Given the description of an element on the screen output the (x, y) to click on. 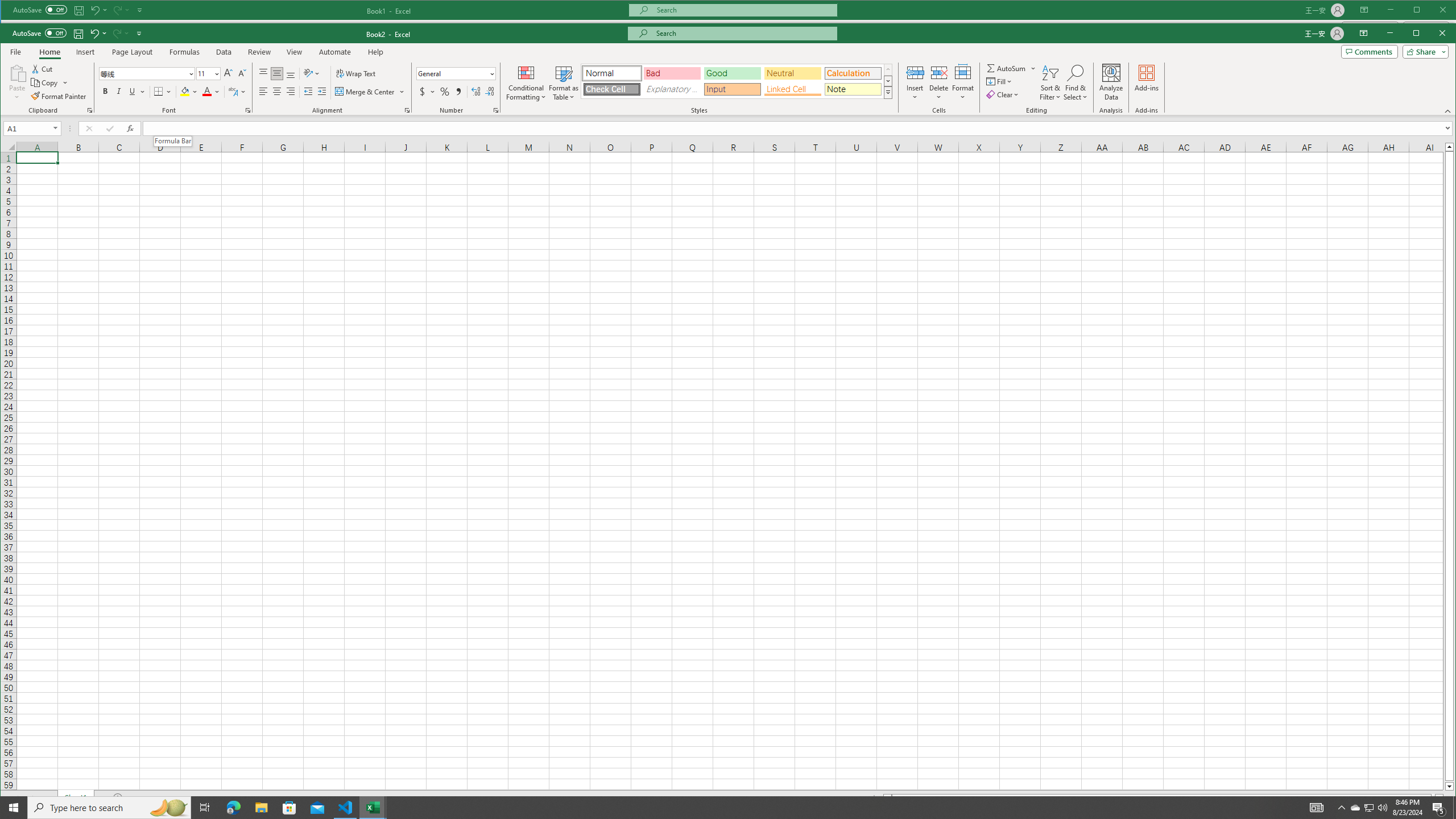
Data (223, 51)
File Tab (15, 51)
Sort & Filter (1050, 82)
Analyze Data (1110, 82)
Class: MsoCommandBar (728, 69)
Clear (1003, 94)
Check Cell (612, 89)
Line down (1449, 786)
Review (259, 51)
Bold (105, 91)
Number Format (451, 73)
Zoom In (1419, 812)
